Given the description of an element on the screen output the (x, y) to click on. 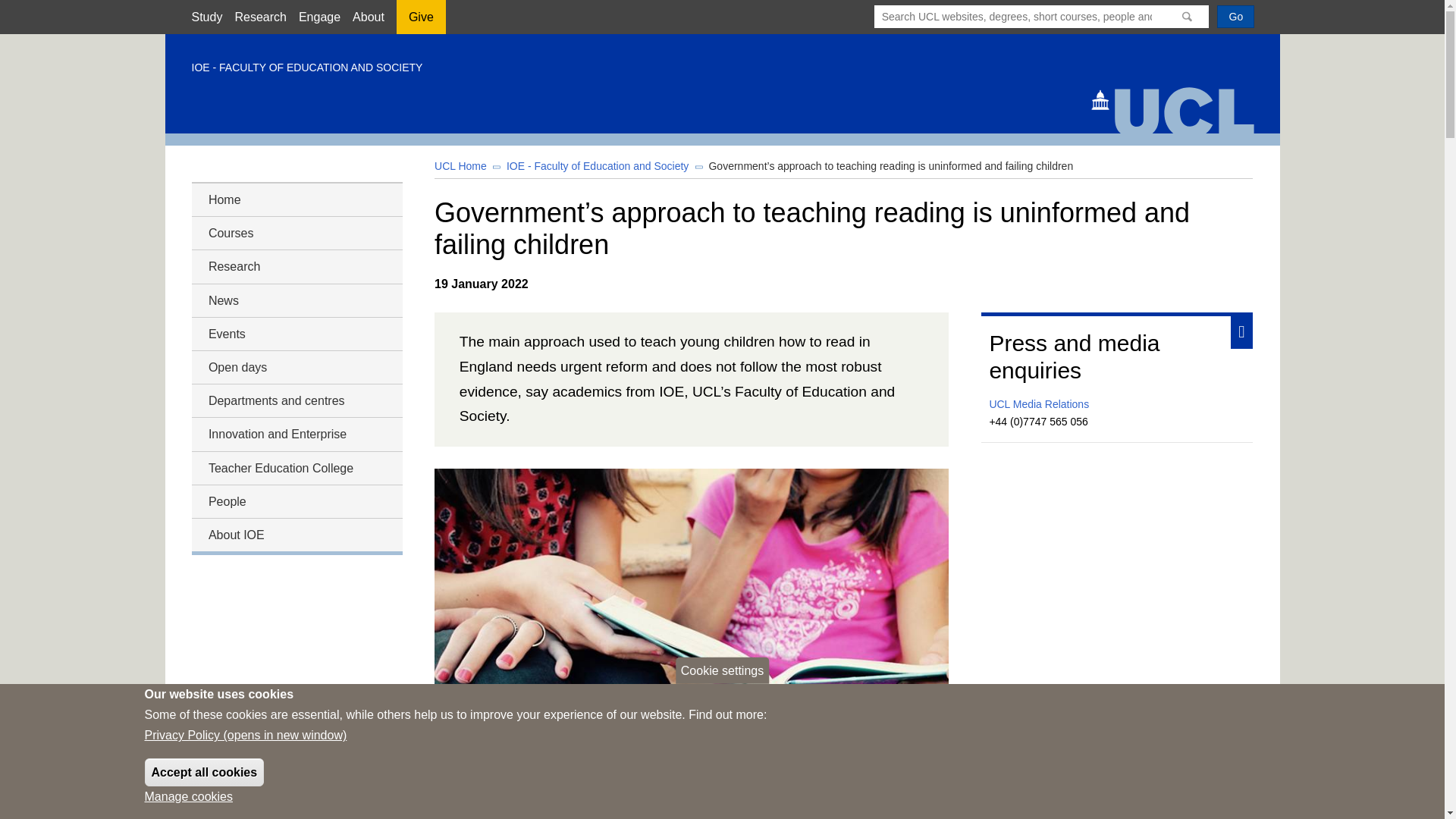
Research (296, 266)
Give (420, 22)
Home (296, 199)
Events (296, 333)
Home (1178, 108)
Go (1235, 15)
Study (206, 16)
News (296, 300)
Research (259, 16)
Go (1235, 15)
Open days (296, 367)
Departments and centres (296, 400)
Engage (319, 16)
About (368, 16)
